Given the description of an element on the screen output the (x, y) to click on. 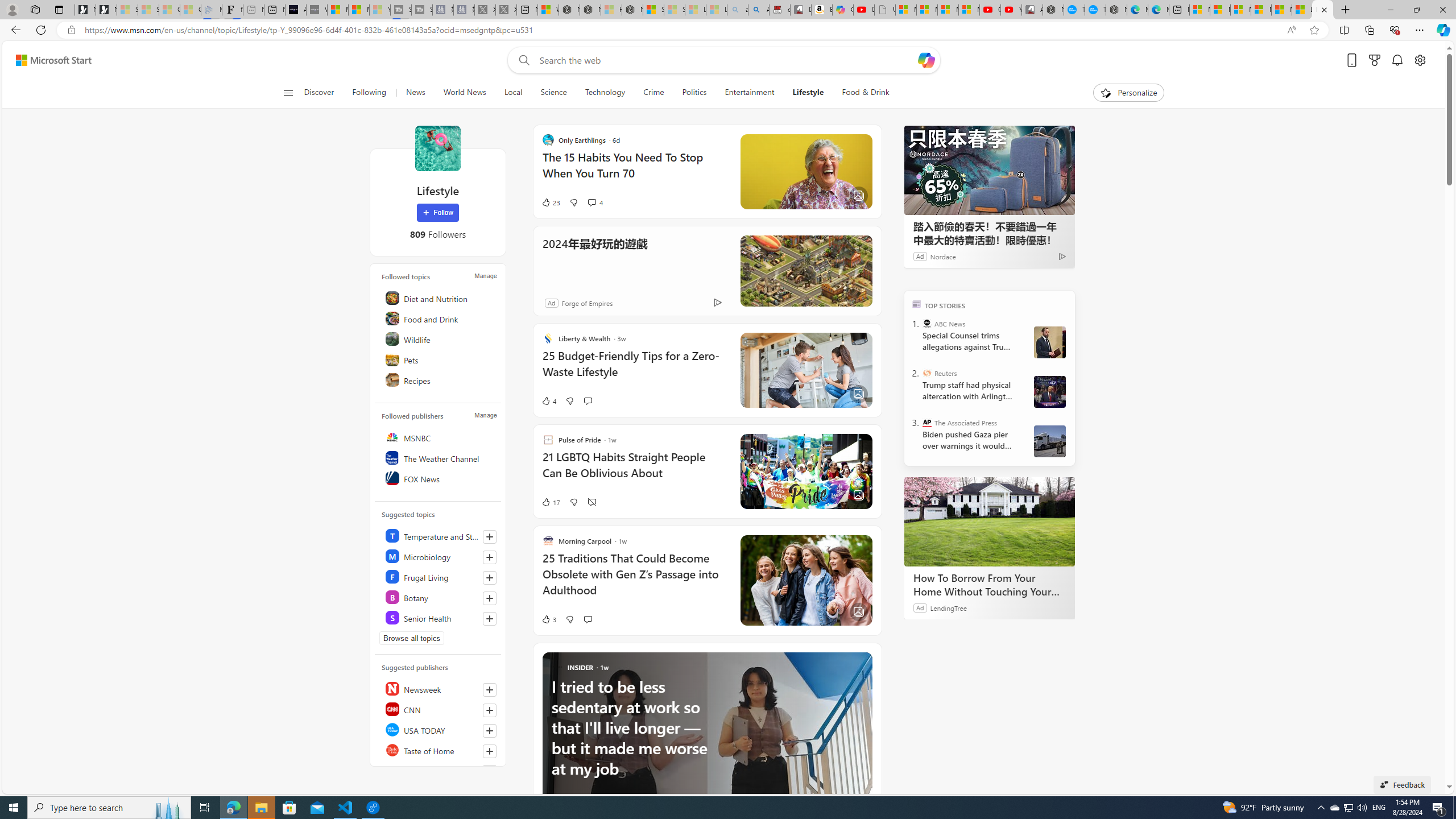
3 Like (547, 619)
Food & Drink (865, 92)
Newsletter Sign Up (106, 9)
Ad Choice (717, 302)
Skip to footer (46, 59)
Lifestyle - MSN (1322, 9)
